Given the description of an element on the screen output the (x, y) to click on. 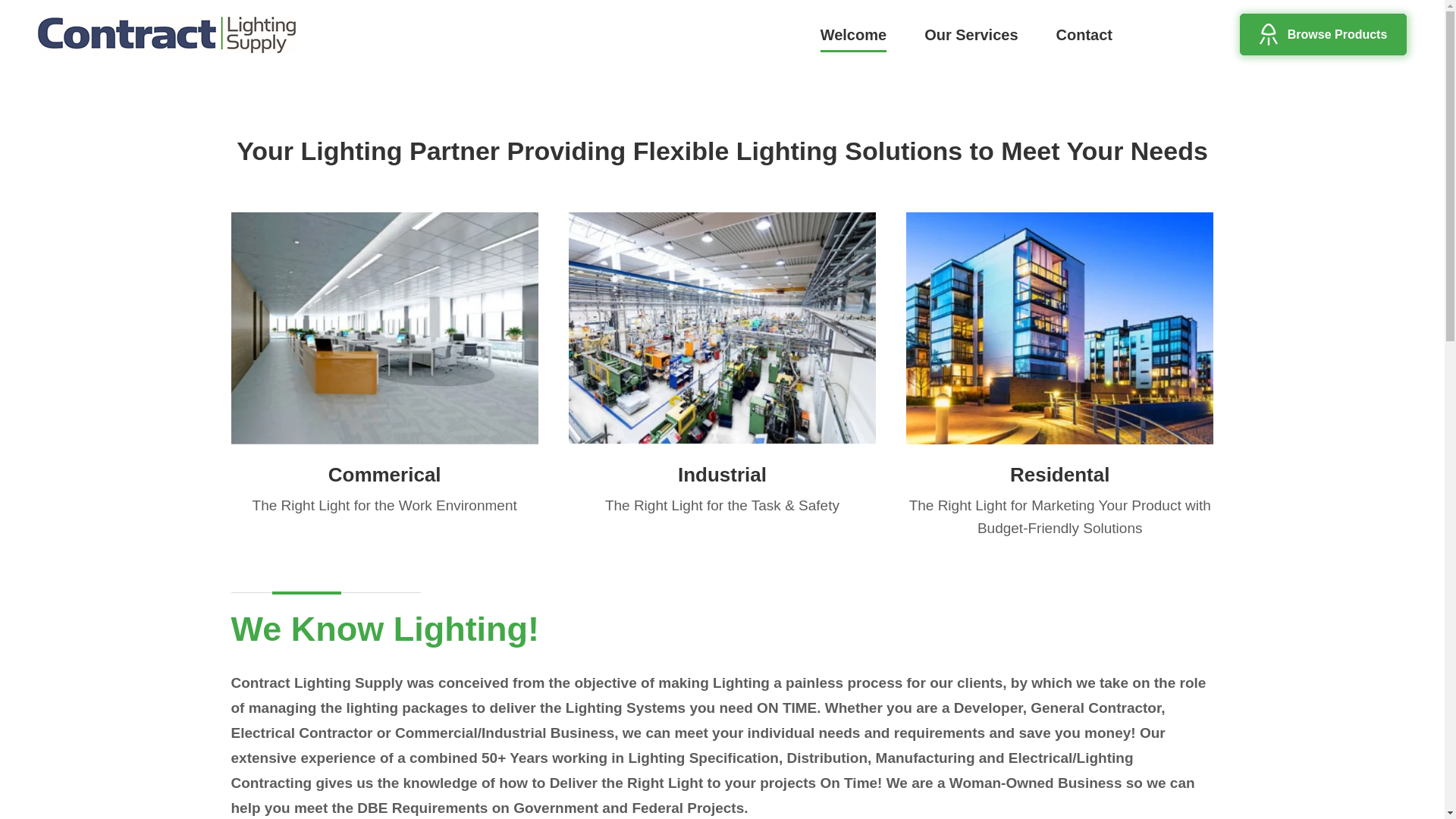
Our Services (970, 33)
Browse Products (1323, 34)
Welcome (383, 364)
Contact (853, 33)
